Given the description of an element on the screen output the (x, y) to click on. 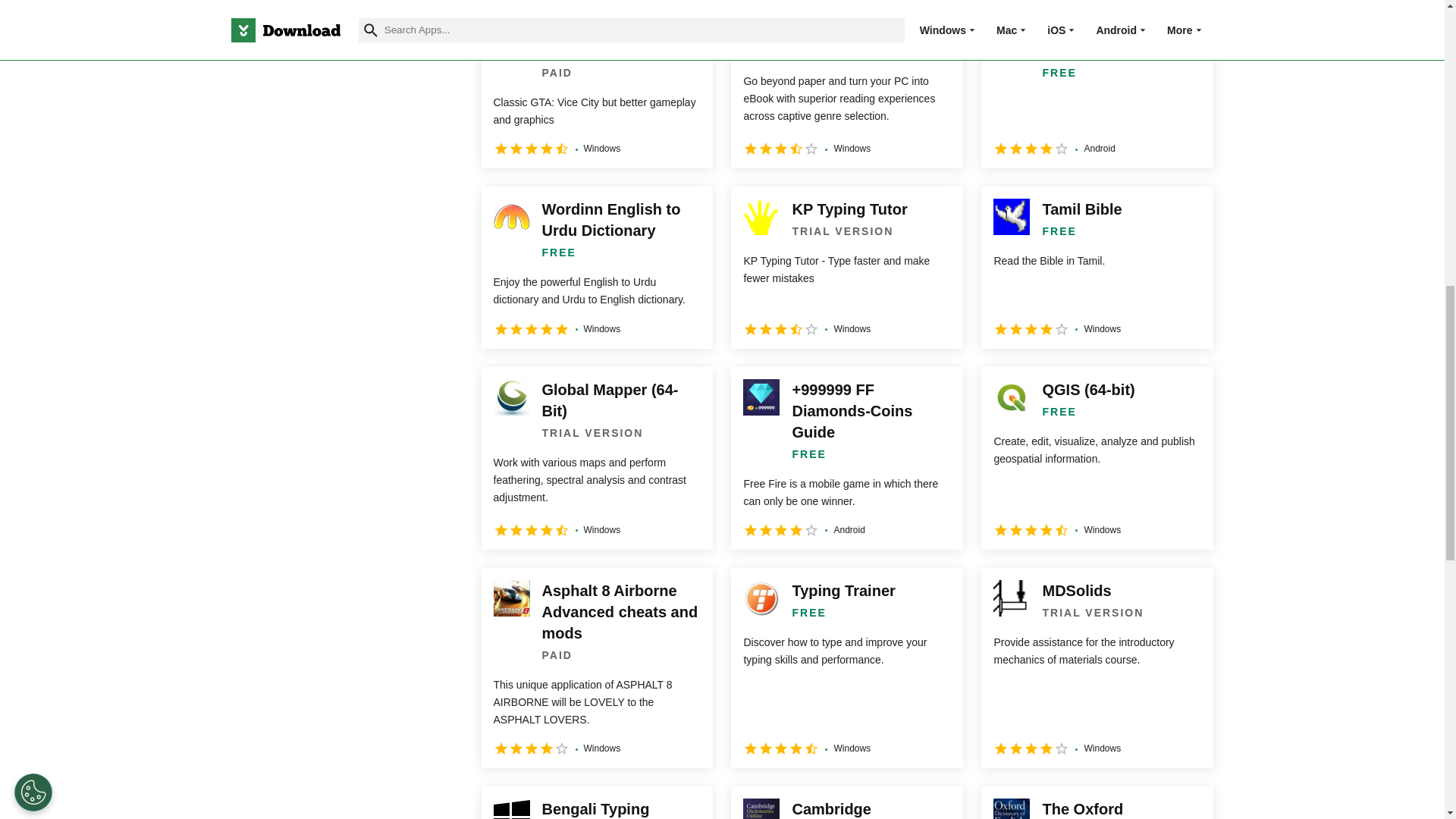
Asphalt 8 Airborne Advanced cheats and mods (596, 668)
Demon Slayer: Kimetsu no Yaiba (1096, 87)
Tamil Bible (1096, 267)
Kindle for PC (846, 87)
KP Typing Tutor (846, 267)
Typing Trainer (846, 668)
Wordinn English to Urdu Dictionary (596, 267)
